Given the description of an element on the screen output the (x, y) to click on. 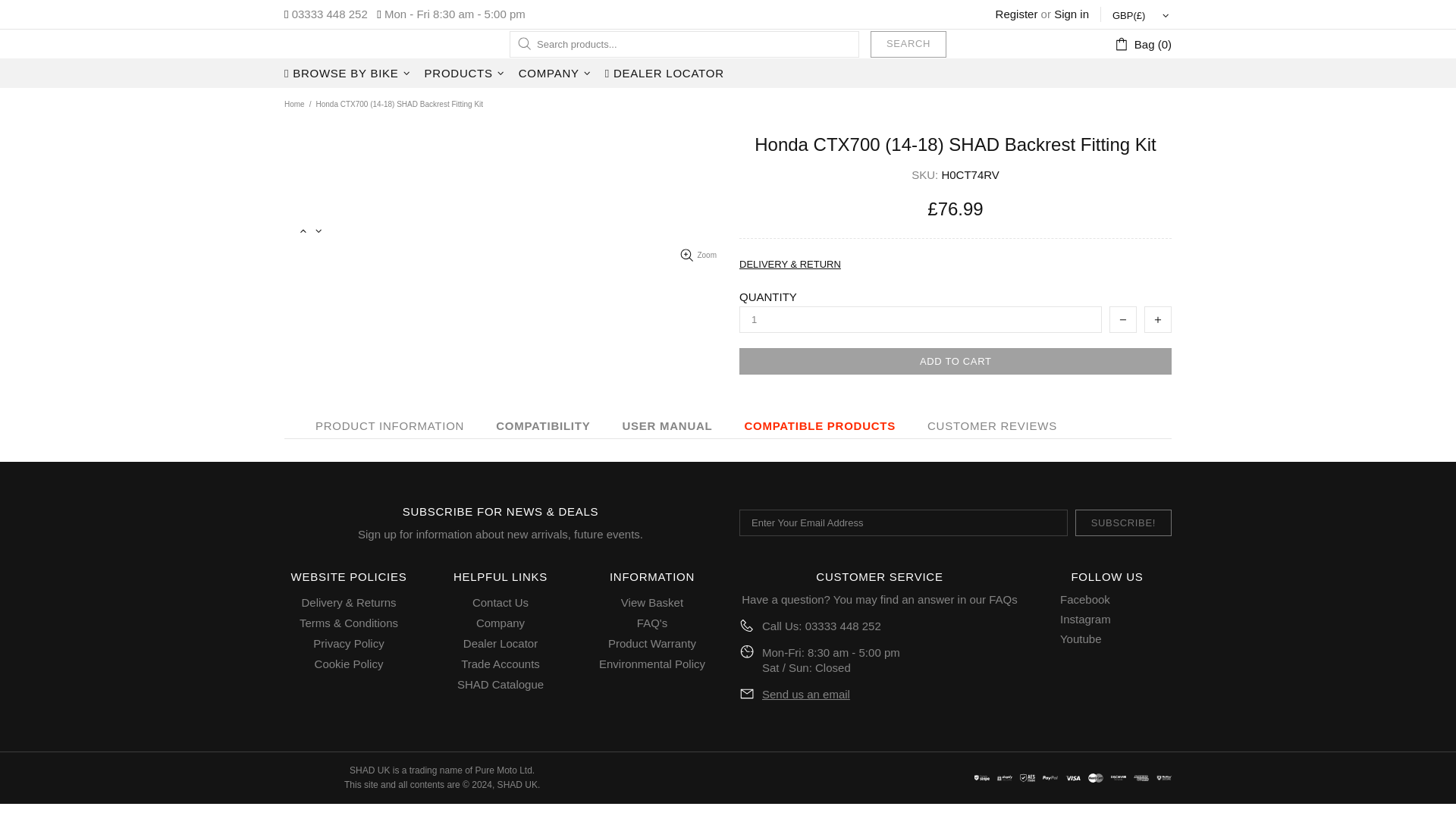
SEARCH (908, 43)
Register (1016, 14)
BROWSE BY BIKE (349, 72)
SUBSCRIBE! (1123, 522)
SHAD UK (346, 43)
1 (920, 319)
Sign in (1071, 14)
